Given the description of an element on the screen output the (x, y) to click on. 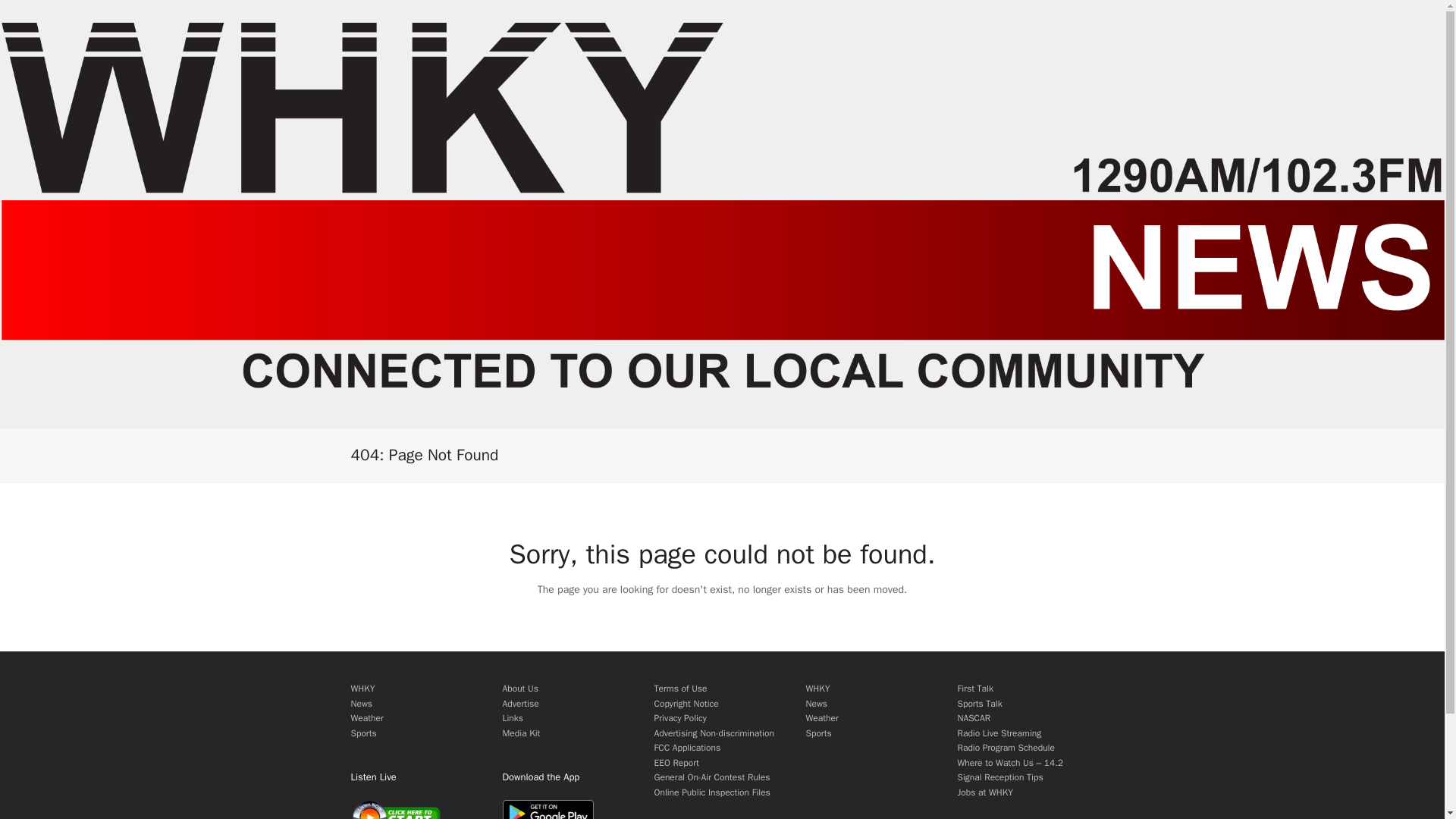
About Us (519, 688)
Copyright Notice (685, 703)
Weather (821, 717)
Sports (818, 733)
WHKY (362, 688)
News (361, 703)
Privacy Policy (679, 717)
FCC Applications (686, 747)
Jobs at WHKY (983, 792)
WHKY (817, 688)
